Given the description of an element on the screen output the (x, y) to click on. 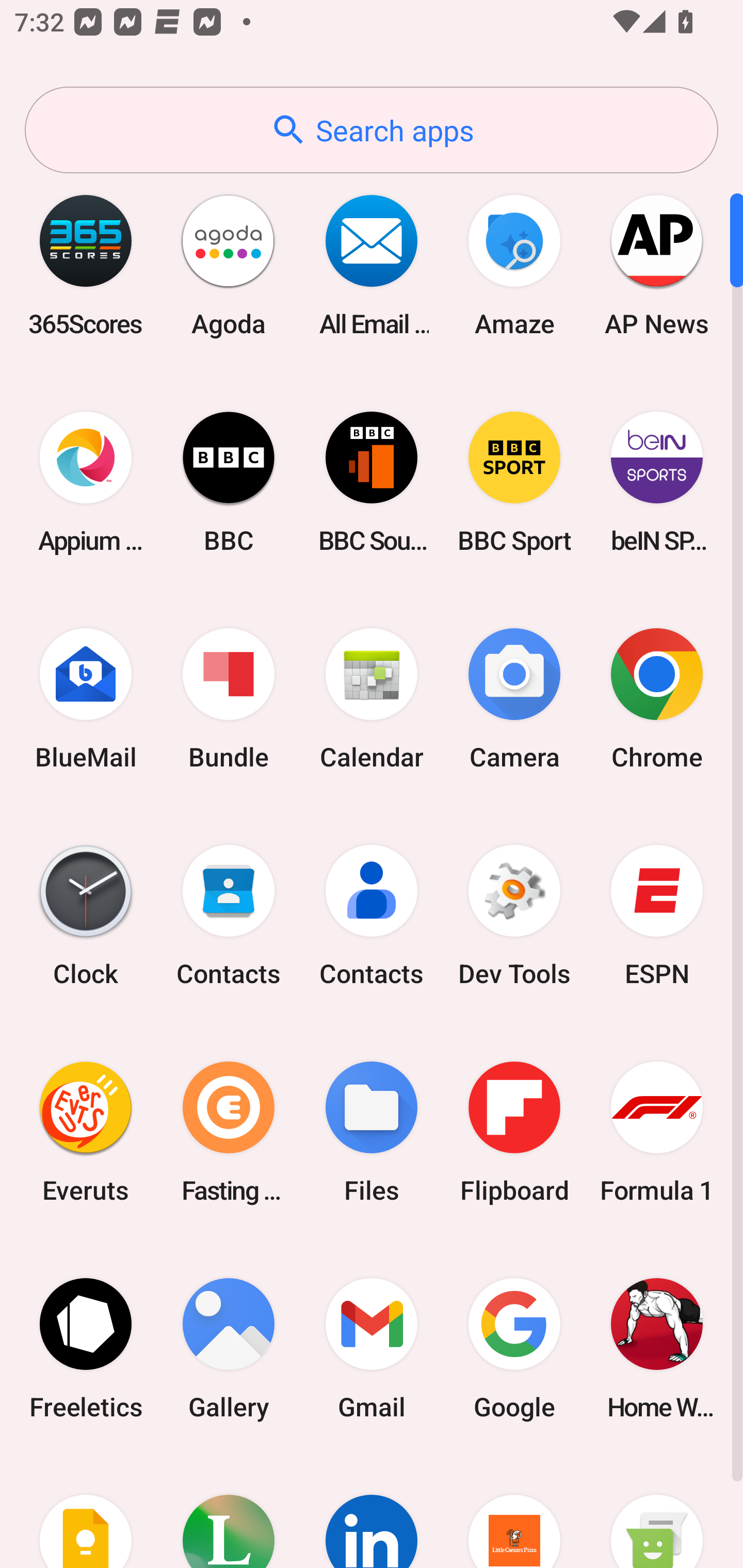
  Search apps (371, 130)
365Scores (85, 264)
Agoda (228, 264)
All Email Connect (371, 264)
Amaze (514, 264)
AP News (656, 264)
Appium Settings (85, 482)
BBC (228, 482)
BBC Sounds (371, 482)
BBC Sport (514, 482)
beIN SPORTS (656, 482)
BlueMail (85, 699)
Bundle (228, 699)
Calendar (371, 699)
Camera (514, 699)
Chrome (656, 699)
Clock (85, 915)
Contacts (228, 915)
Contacts (371, 915)
Dev Tools (514, 915)
ESPN (656, 915)
Everuts (85, 1131)
Fasting Coach (228, 1131)
Files (371, 1131)
Flipboard (514, 1131)
Formula 1 (656, 1131)
Freeletics (85, 1348)
Gallery (228, 1348)
Gmail (371, 1348)
Google (514, 1348)
Home Workout (656, 1348)
Keep Notes (85, 1512)
Lifesum (228, 1512)
LinkedIn (371, 1512)
Little Caesars Pizza (514, 1512)
Messaging (656, 1512)
